Given the description of an element on the screen output the (x, y) to click on. 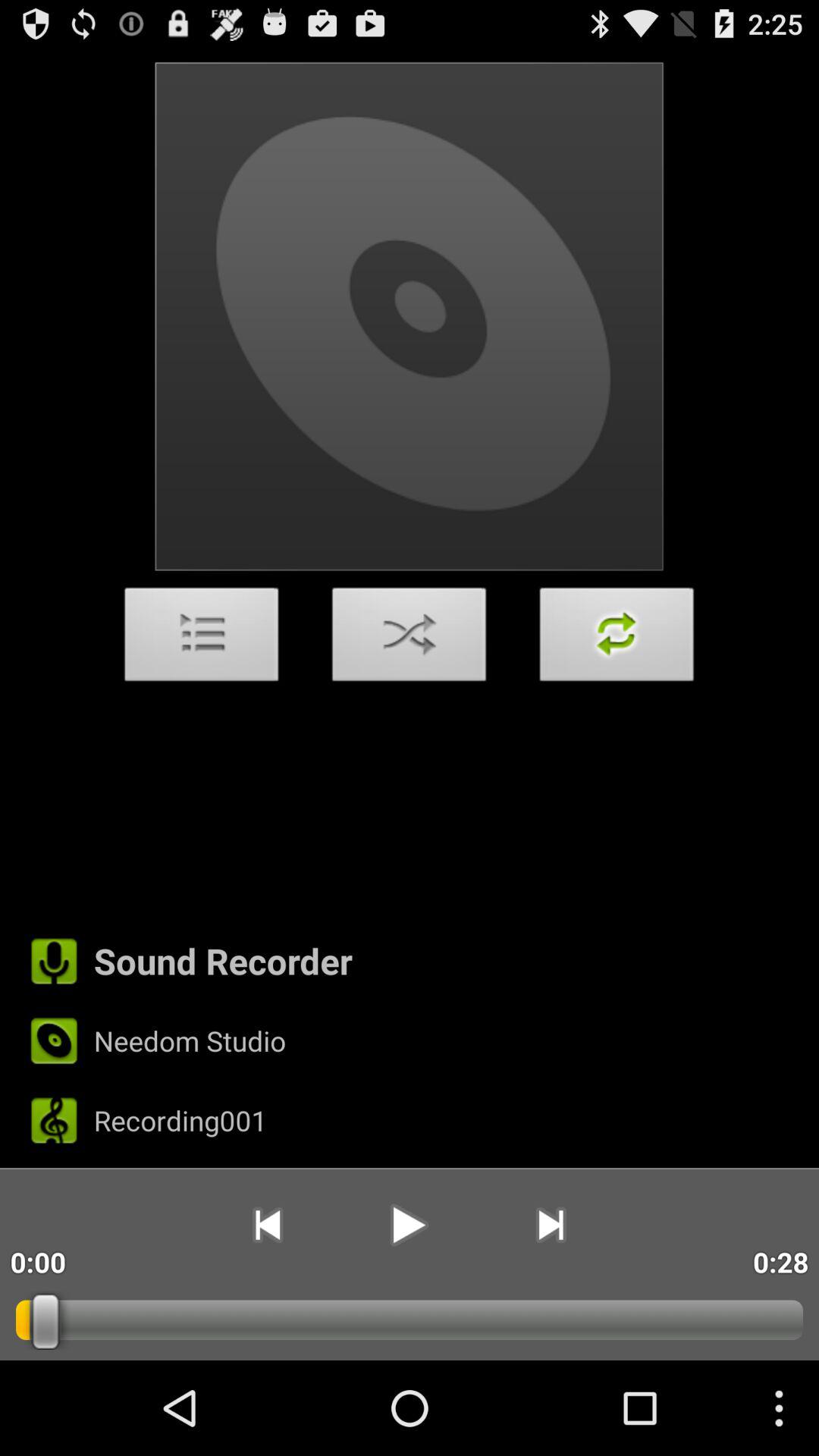
turn on the icon on the right (616, 638)
